Given the description of an element on the screen output the (x, y) to click on. 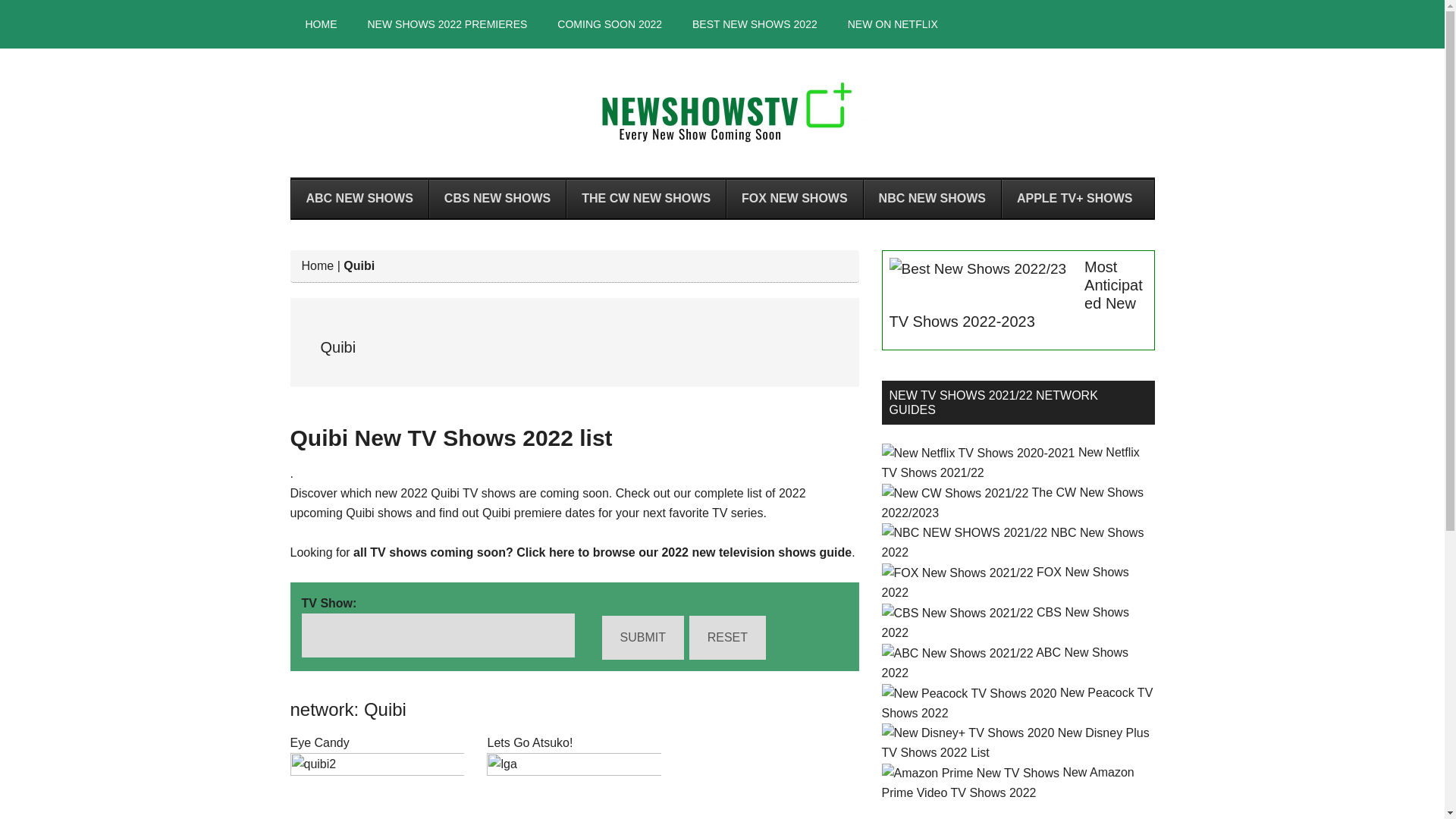
New Peacock TV Shows 2022 (1016, 702)
NBC NEW SHOWS (932, 198)
Lets Go Atsuko! (529, 742)
HOME (320, 24)
FOX New Shows 2022 (1004, 581)
ABC New Shows 2022 (1004, 662)
BEST NEW SHOWS 2022 (754, 24)
lga (573, 785)
Submit (643, 637)
